Given the description of an element on the screen output the (x, y) to click on. 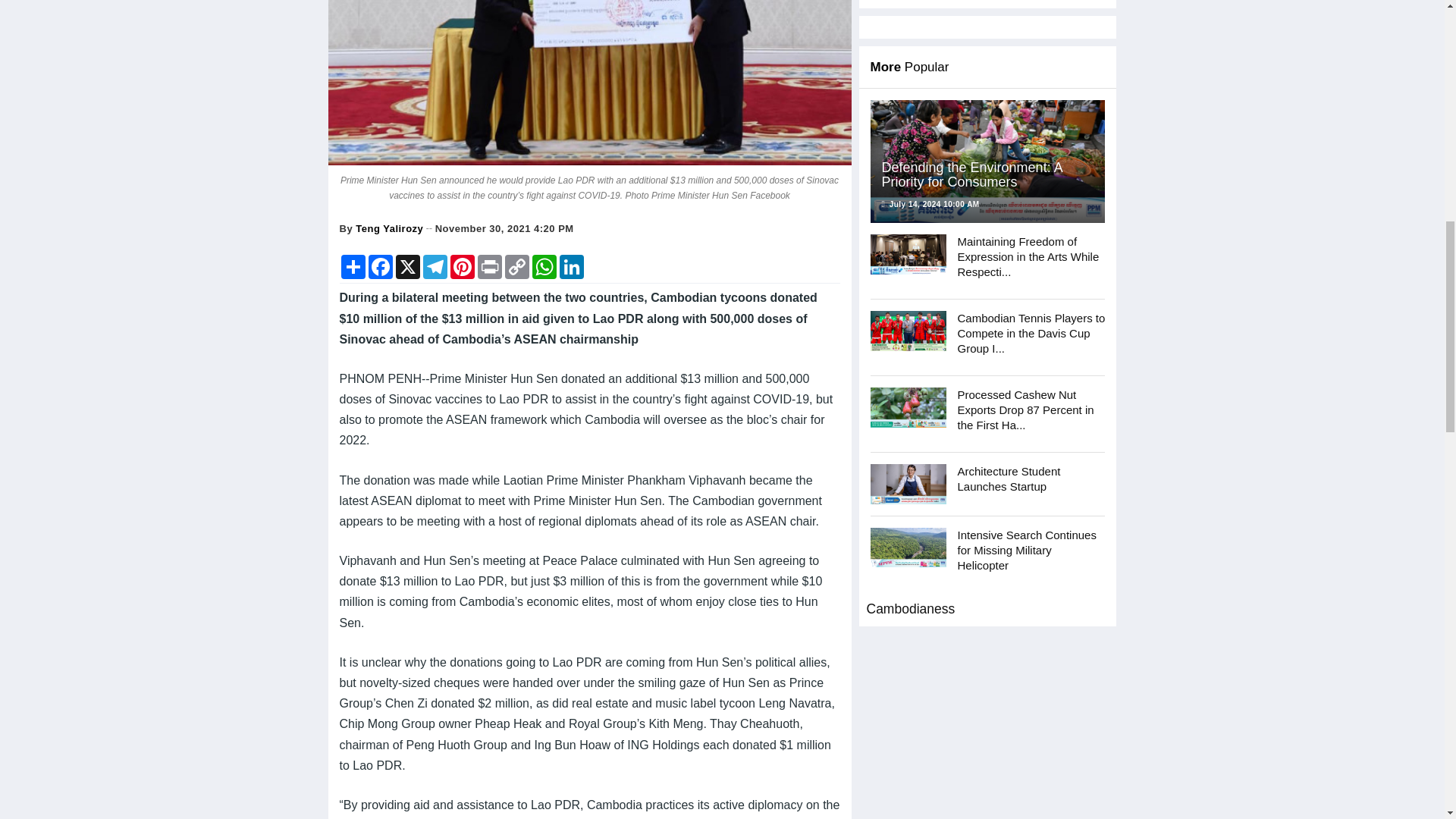
Telegram (435, 266)
Defending the Environment: A Priority for Consumers (987, 160)
LinkedIn (571, 266)
Intensive Search Continues for Missing Military Helicopter (908, 547)
X (408, 266)
Print (489, 266)
Teng Yalirozy (389, 228)
Facebook (380, 266)
Architecture Student Launches Startup (908, 483)
Share (352, 266)
Pinterest (462, 266)
WhatsApp (544, 266)
Copy Link (517, 266)
